Given the description of an element on the screen output the (x, y) to click on. 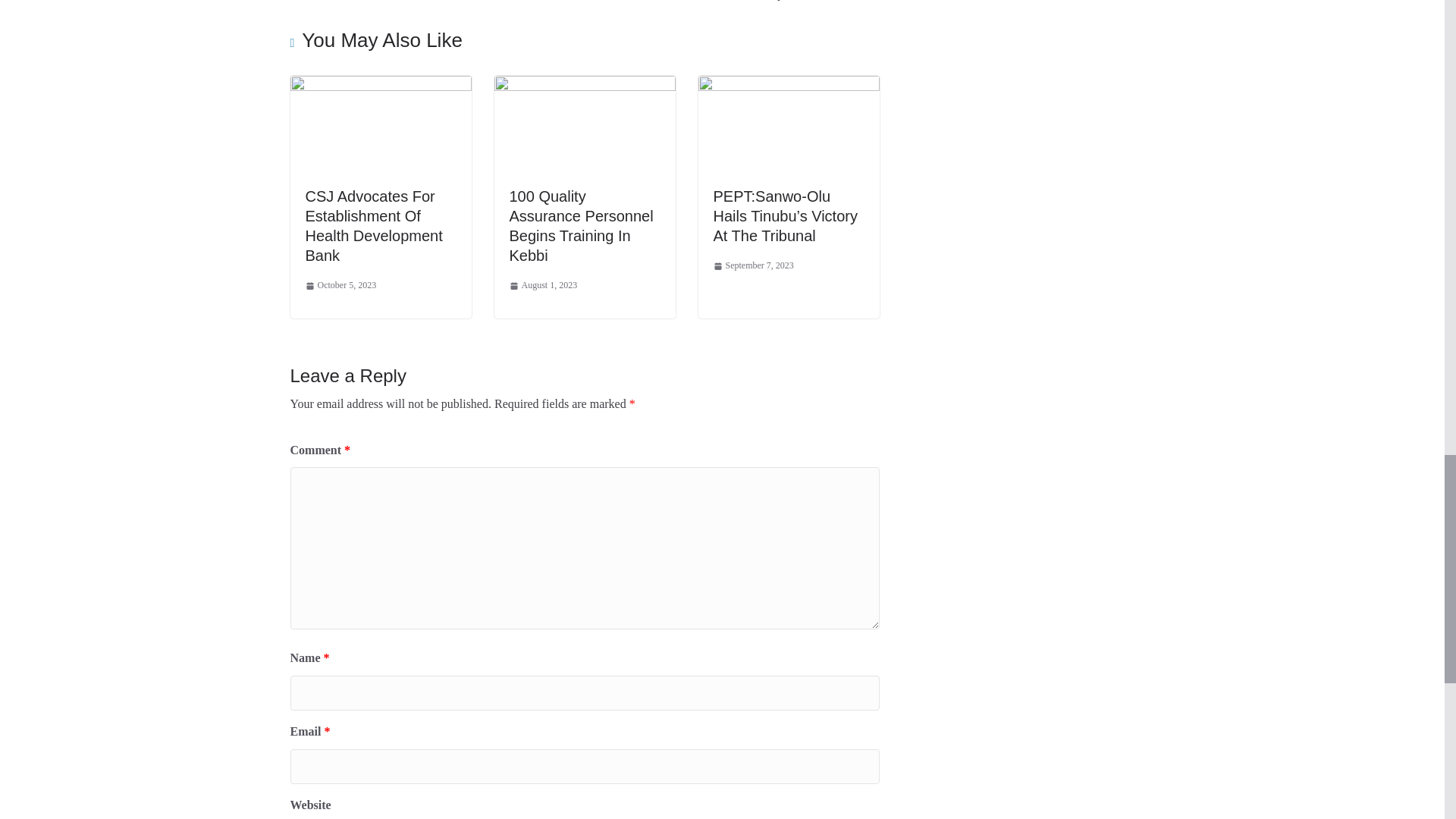
October 5, 2023 (339, 285)
CSJ Advocates For Establishment Of Health Development Bank (373, 225)
CSJ Advocates For Establishment Of Health Development Bank (379, 85)
CSJ Advocates For Establishment Of Health Development Bank (373, 225)
